Given the description of an element on the screen output the (x, y) to click on. 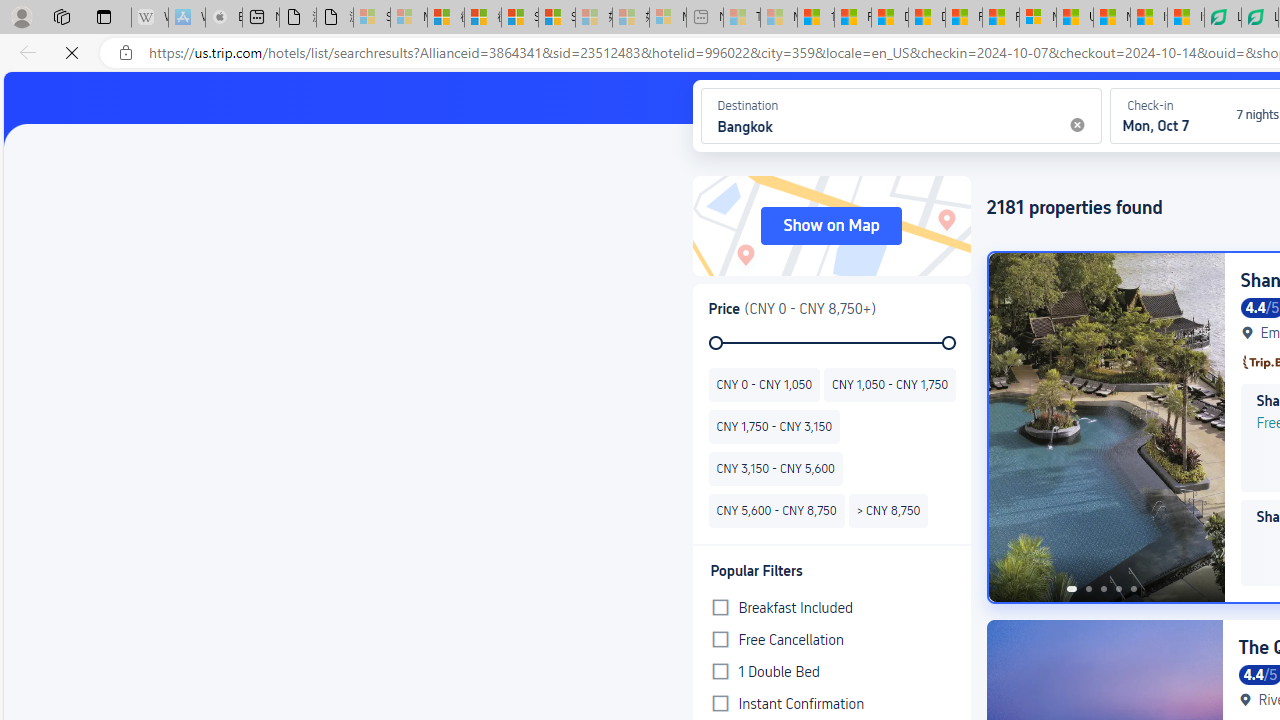
Check-in (1166, 115)
Microsoft account | Account Checkup - Sleeping (668, 17)
Microsoft Services Agreement - Sleeping (408, 17)
hotel overview picture (1106, 426)
Show on Map (831, 225)
US Heat Deaths Soared To Record High Last Year (1075, 17)
Top Stories - MSN - Sleeping (742, 17)
